Given the description of an element on the screen output the (x, y) to click on. 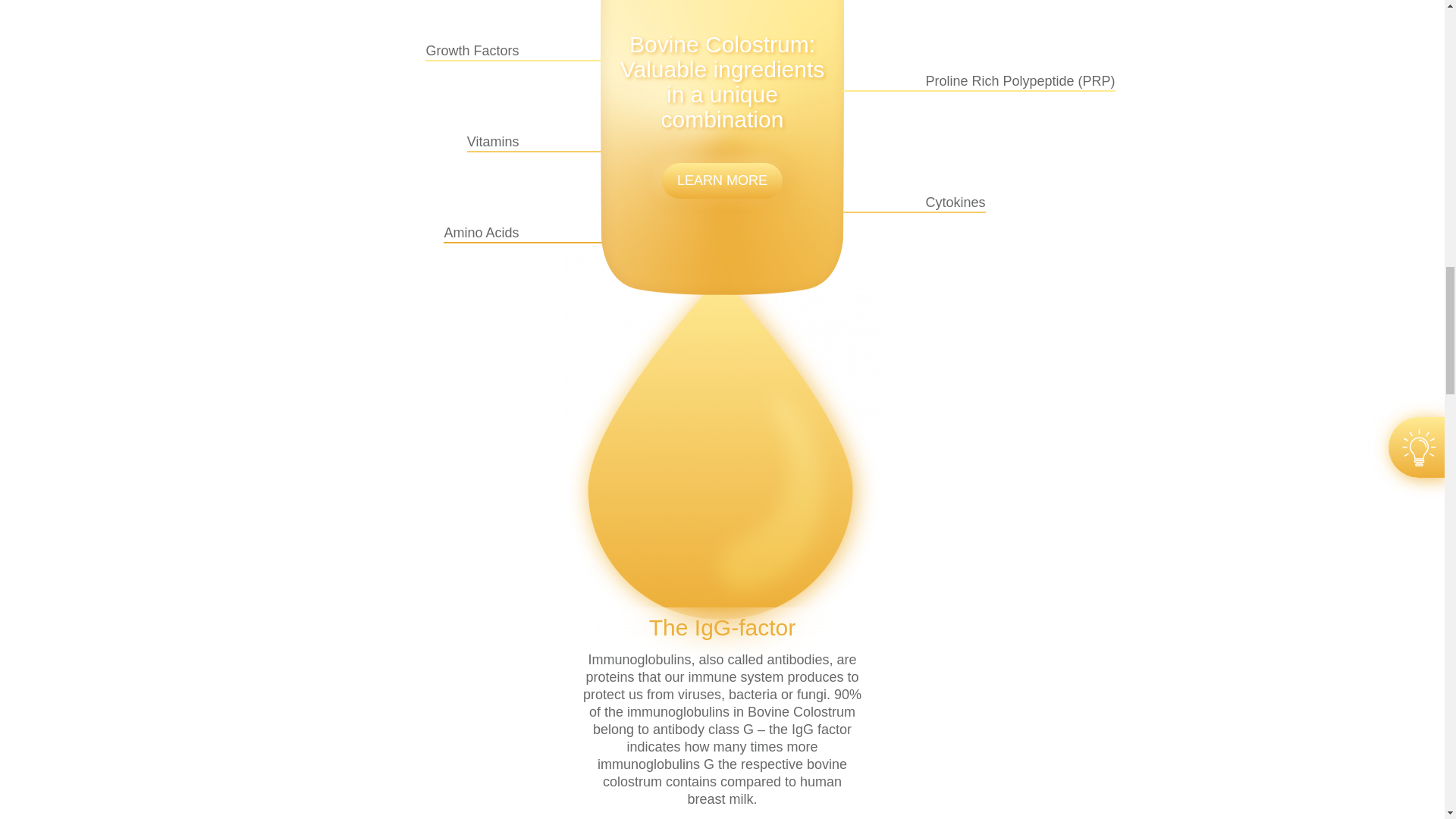
Growth Factors (425, 51)
Amino Acids (425, 233)
LEARN MORE (722, 180)
Cytokines (1018, 203)
Vitamins (425, 142)
